Given the description of an element on the screen output the (x, y) to click on. 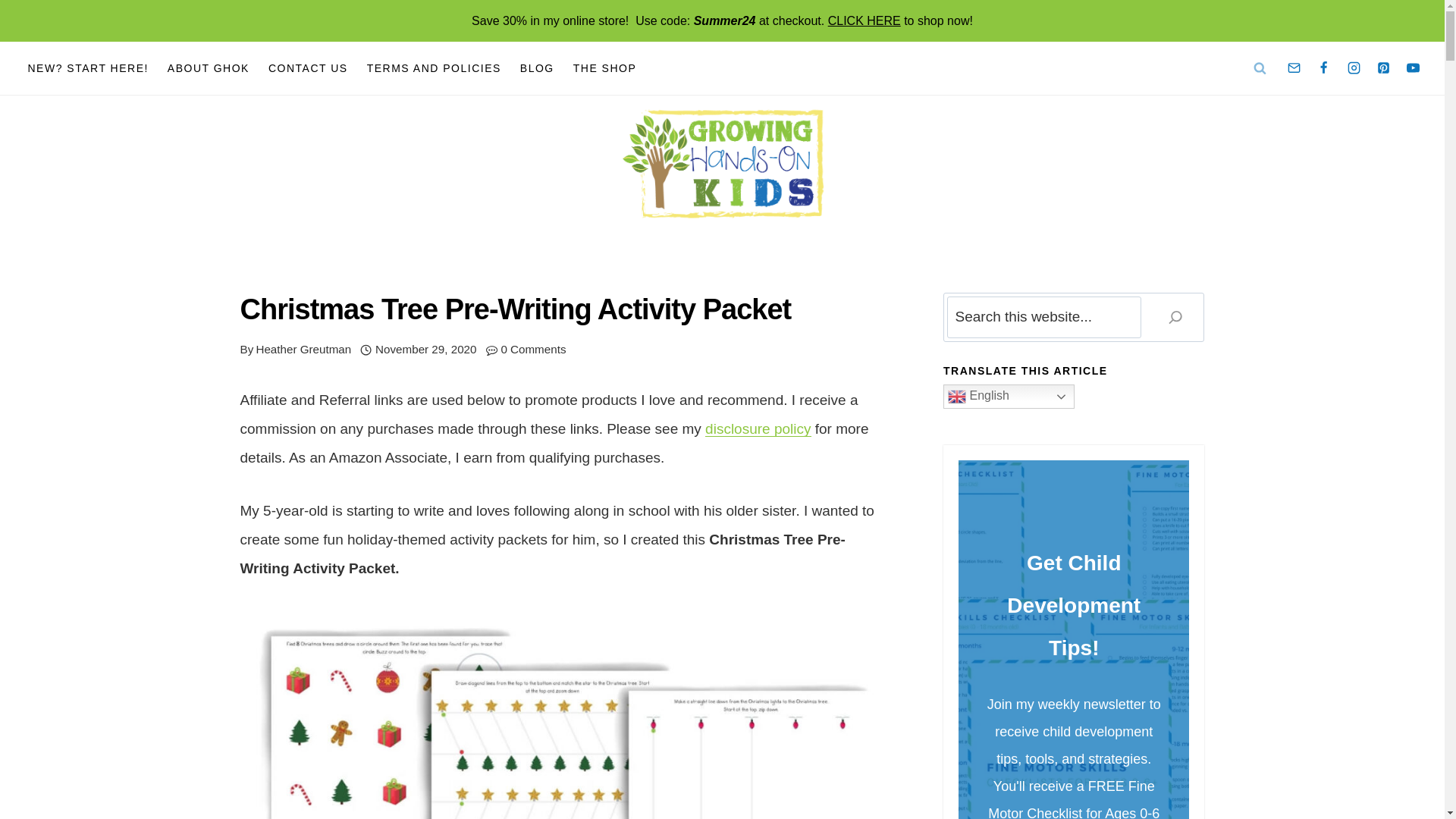
ABOUT GHOK (208, 68)
BLOG (537, 68)
Heather Greutman (303, 349)
disclosure policy (757, 428)
THE SHOP (604, 68)
0 Comments (533, 349)
0 Comments (533, 349)
CONTACT US (307, 68)
NEW? START HERE! (87, 68)
CLICK HERE (864, 19)
TERMS AND POLICIES (433, 68)
